Given the description of an element on the screen output the (x, y) to click on. 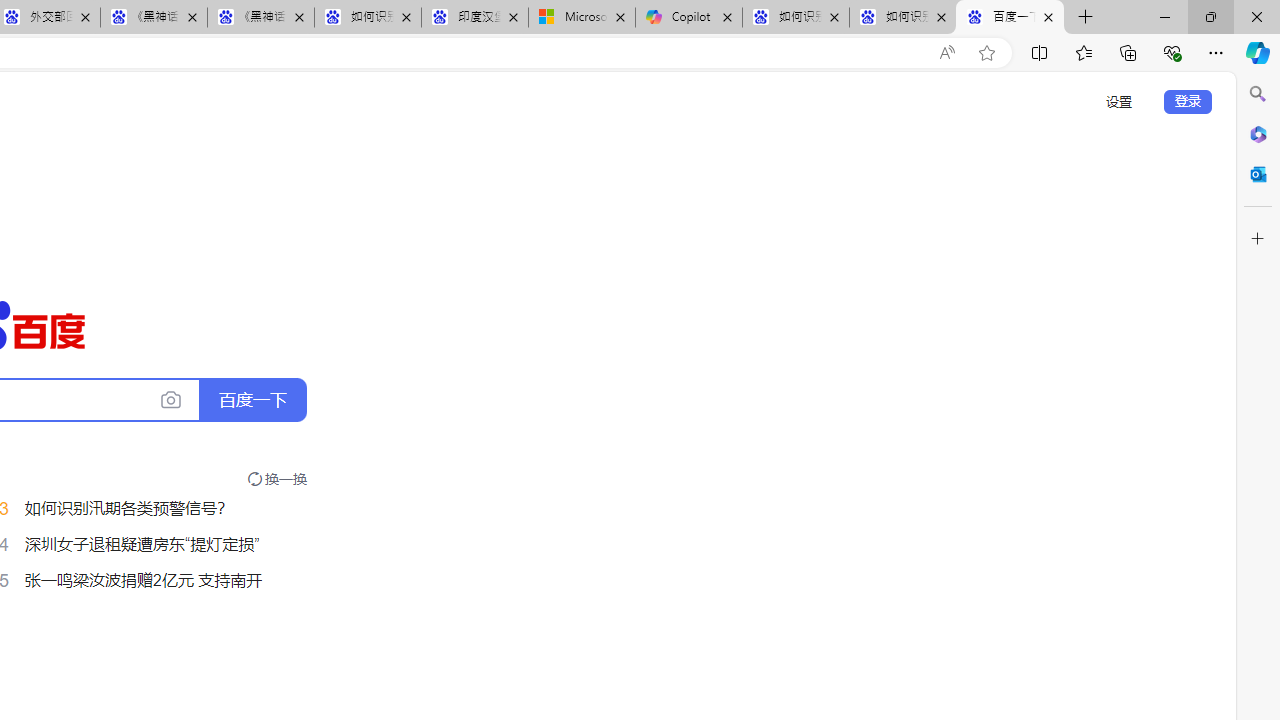
Copilot (689, 17)
